Given the description of an element on the screen output the (x, y) to click on. 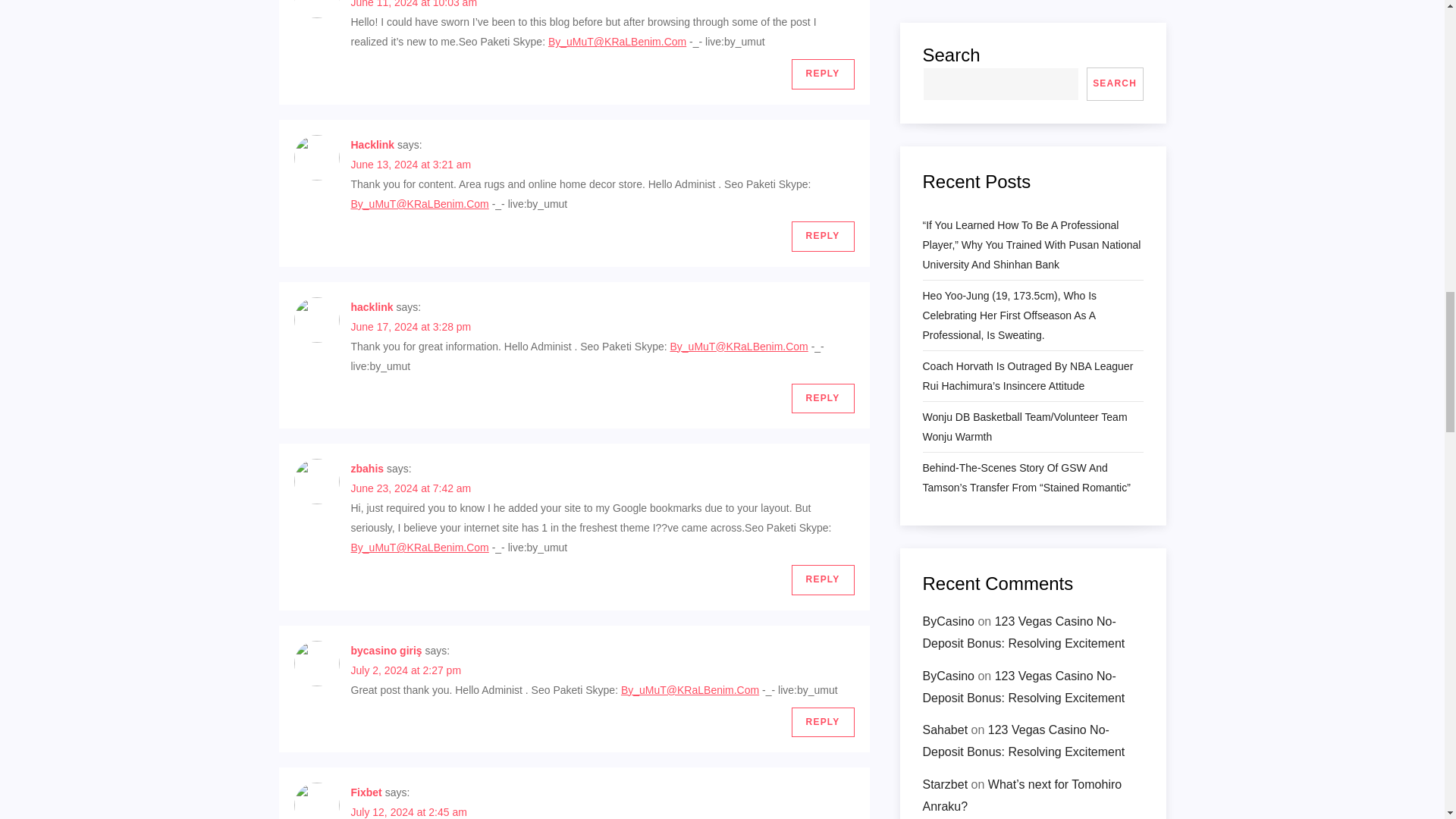
REPLY (823, 399)
June 17, 2024 at 3:28 pm (410, 326)
hacklink (371, 306)
Hacklink (372, 144)
REPLY (823, 73)
REPLY (823, 236)
zbahis (367, 468)
June 13, 2024 at 3:21 am (410, 164)
June 23, 2024 at 7:42 am (410, 488)
REPLY (823, 580)
June 11, 2024 at 10:03 am (413, 4)
